Given the description of an element on the screen output the (x, y) to click on. 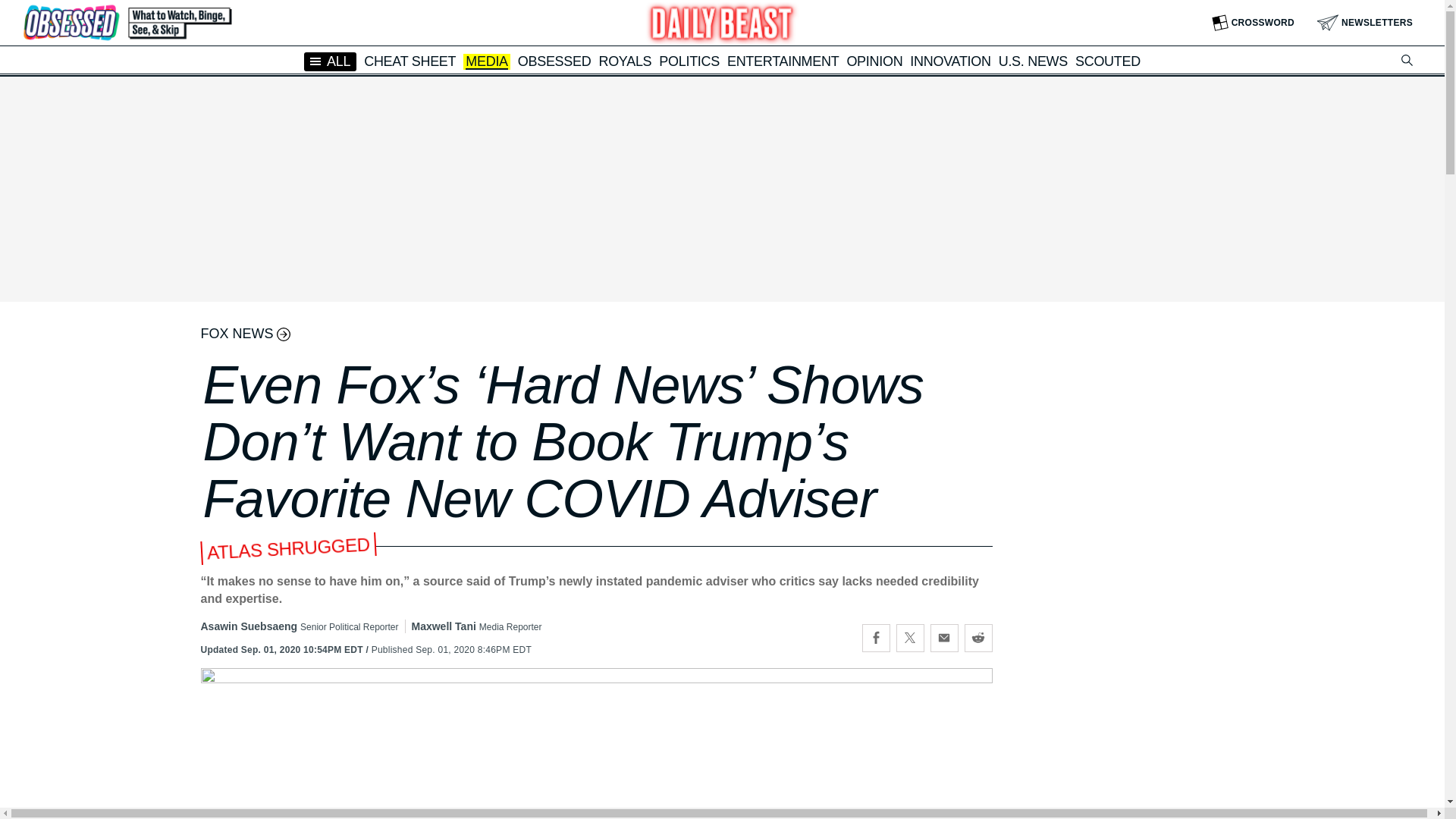
POLITICS (689, 60)
NEWSLETTERS (1364, 22)
ROYALS (624, 60)
ALL (330, 60)
SCOUTED (1107, 60)
OPINION (873, 60)
CHEAT SHEET (409, 60)
OBSESSED (554, 60)
ENTERTAINMENT (782, 60)
INNOVATION (950, 60)
